Given the description of an element on the screen output the (x, y) to click on. 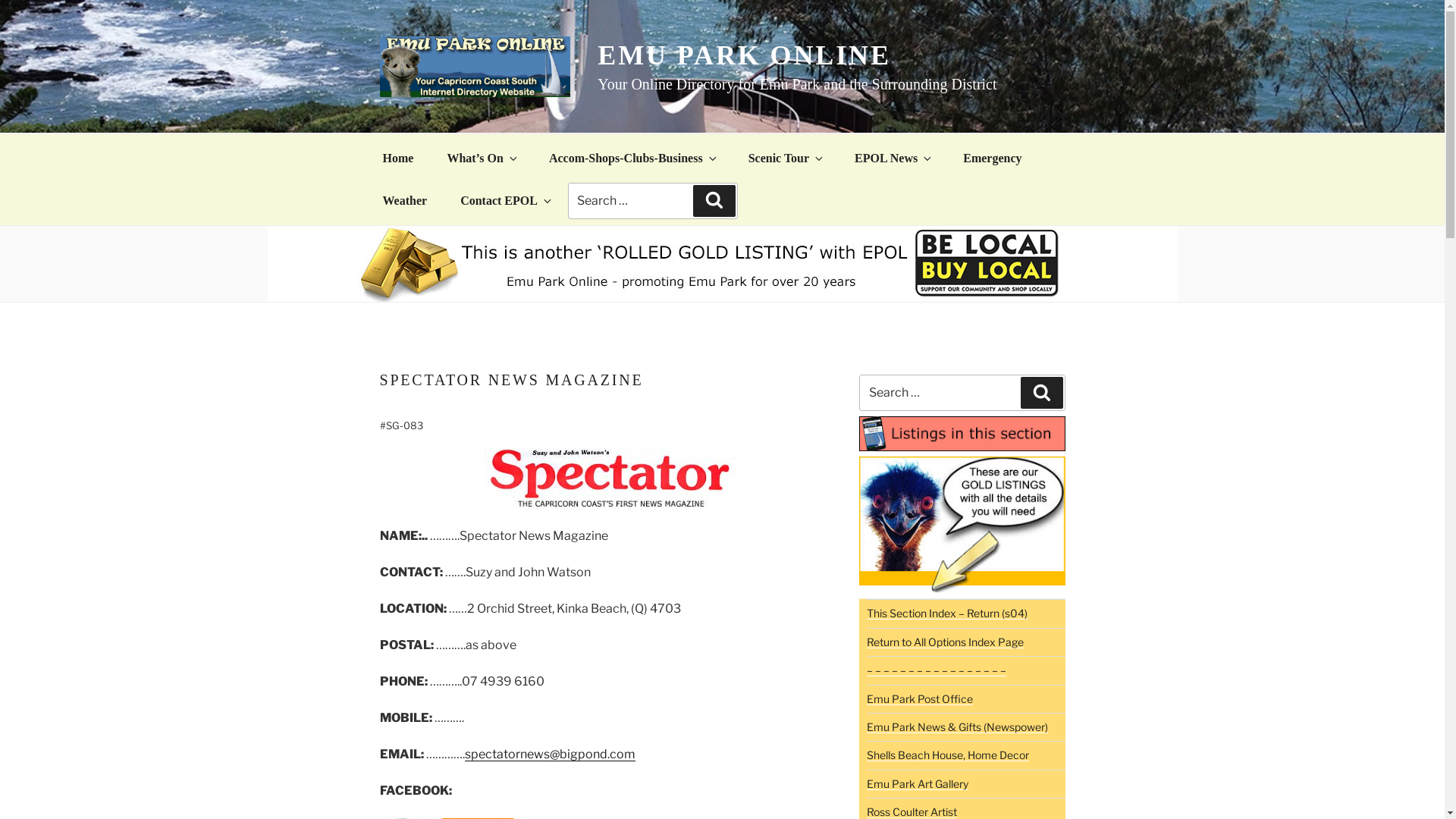
spectatornews@bigpond.com Element type: text (549, 753)
Emergency Element type: text (991, 158)
Accom-Shops-Clubs-Business Element type: text (631, 158)
Emu Park Art Gallery Element type: text (917, 783)
Return to All Options Index Page Element type: text (944, 641)
EMU PARK ONLINE Element type: text (744, 54)
Shells Beach House, Home Decor Element type: text (947, 754)
Contact EPOL Element type: text (504, 200)
Weather Element type: text (404, 200)
EPOL News Element type: text (891, 158)
Home Element type: text (397, 158)
Search Element type: text (1041, 392)
Emu Park Post Office Element type: text (919, 698)
Emu Park News & Gifts (Newspower) Element type: text (957, 726)
Ross Coulter Artist Element type: text (911, 811)
Scenic Tour Element type: text (784, 158)
